Given the description of an element on the screen output the (x, y) to click on. 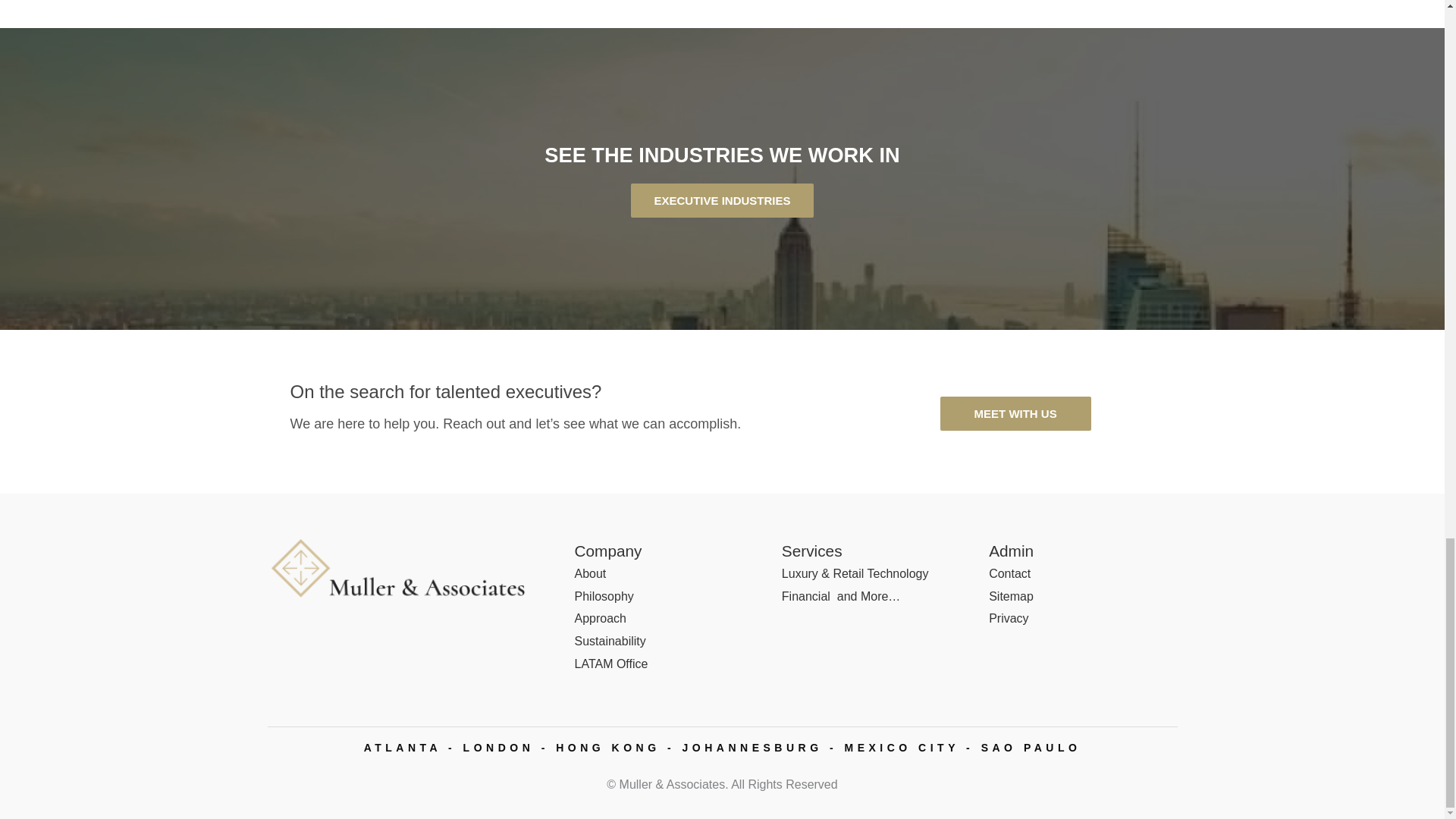
Approach (601, 617)
About (591, 573)
Services (812, 550)
Technology (897, 573)
Philosophy (604, 595)
LATAM Office (611, 663)
EXECUTIVE INDUSTRIES (721, 200)
Sustainability (610, 640)
Company (608, 550)
MEET WITH US (1015, 413)
